Given the description of an element on the screen output the (x, y) to click on. 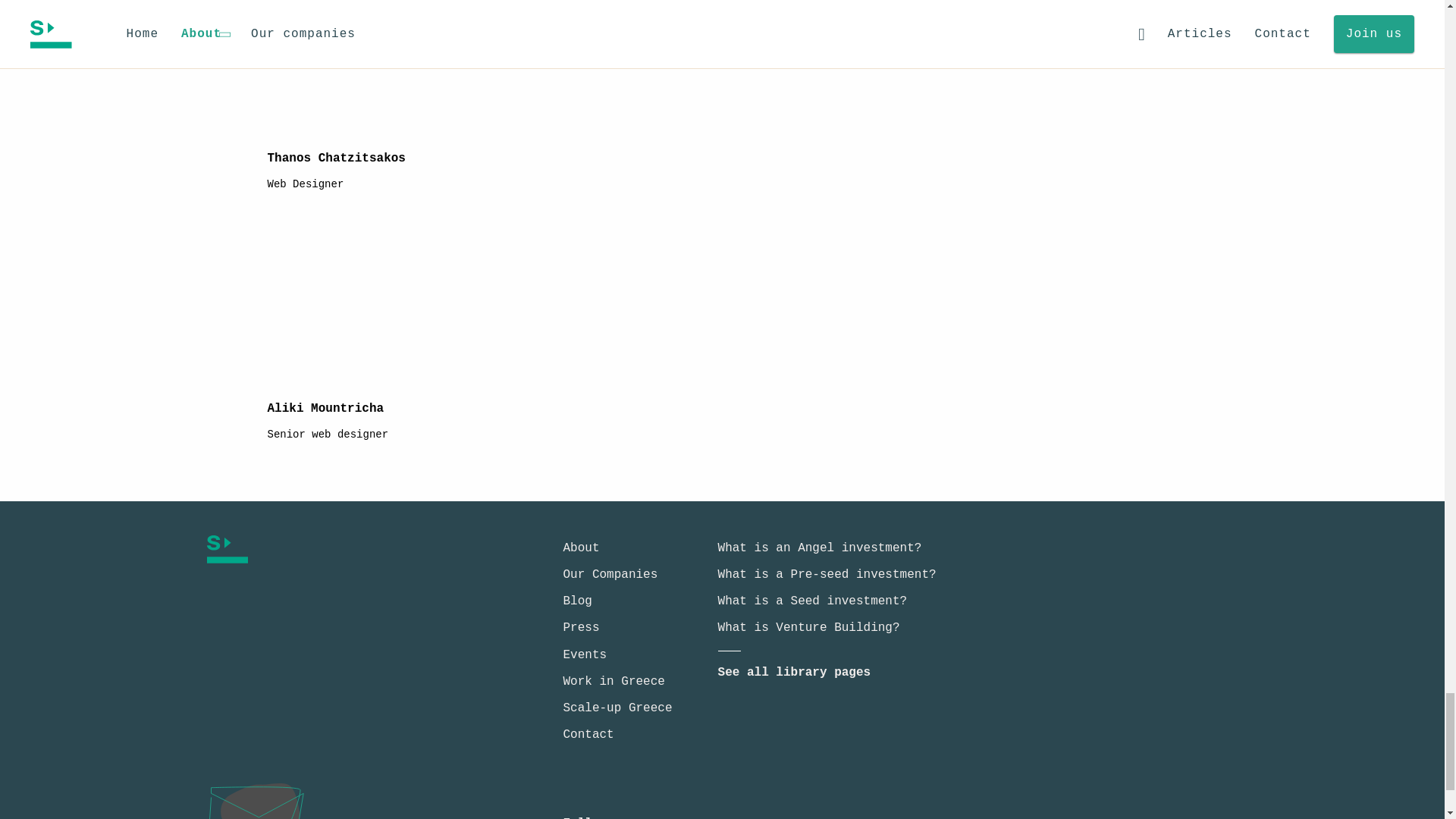
What is a Pre-seed investment? (826, 574)
Press (580, 627)
About (580, 548)
Events (584, 654)
What is Venture Building? (808, 627)
What is a Seed investment? (812, 601)
See all library pages (793, 672)
Blog (576, 601)
Work in Greece (612, 681)
What is an Angel investment? (819, 548)
Scale-up Greece (616, 707)
Our Companies (610, 574)
Starttech Ventures (341, 549)
Contact (587, 735)
